Given the description of an element on the screen output the (x, y) to click on. 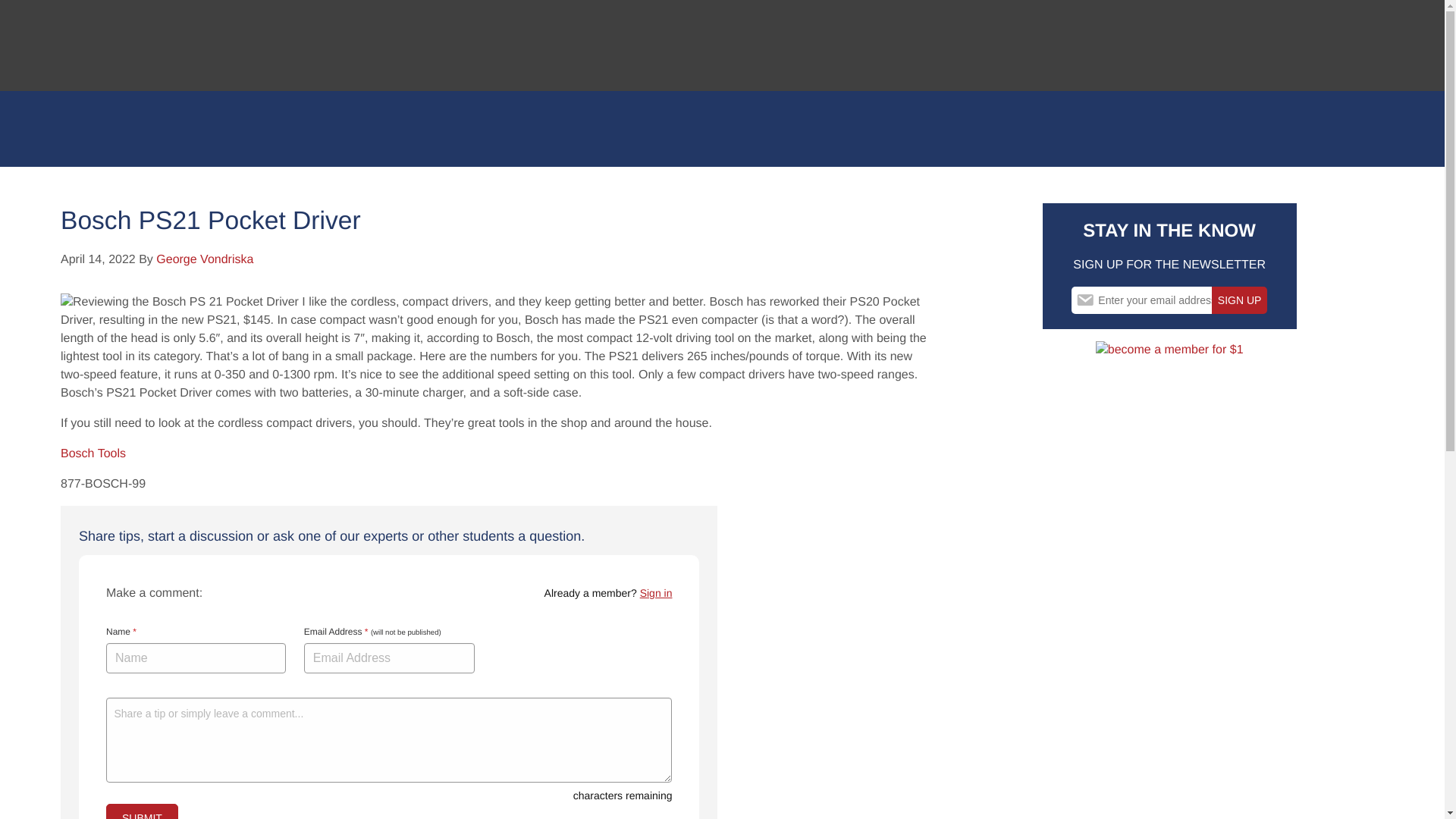
Sign Up (1238, 299)
Bosch Tools (93, 453)
Sign Up (1238, 299)
Sign in (656, 592)
Submit (141, 811)
George Vondriska (204, 259)
Submit (141, 811)
